Given the description of an element on the screen output the (x, y) to click on. 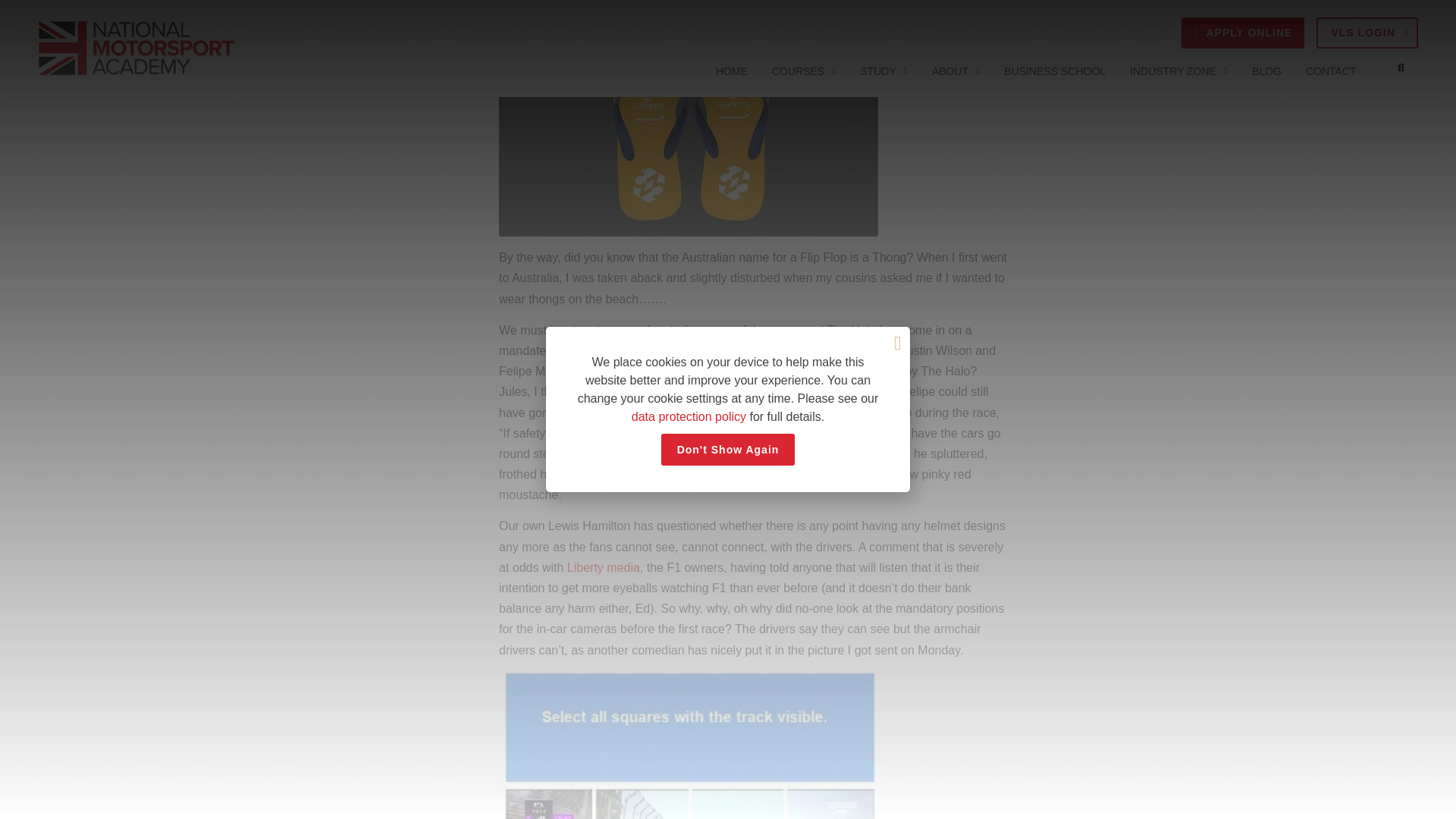
All Halo the Flip Flop! (688, 109)
